Given the description of an element on the screen output the (x, y) to click on. 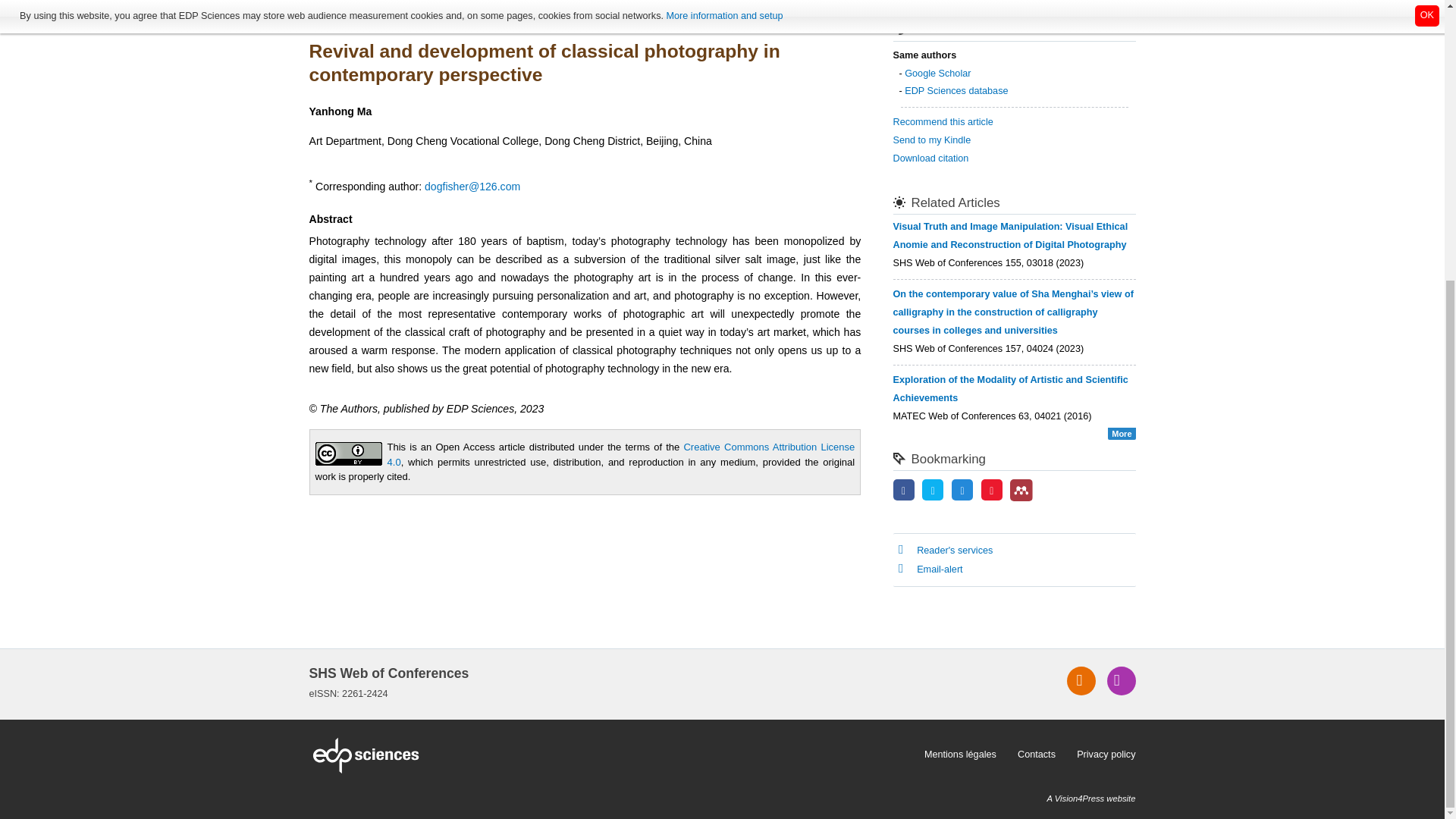
Mendeley (1021, 490)
